Given the description of an element on the screen output the (x, y) to click on. 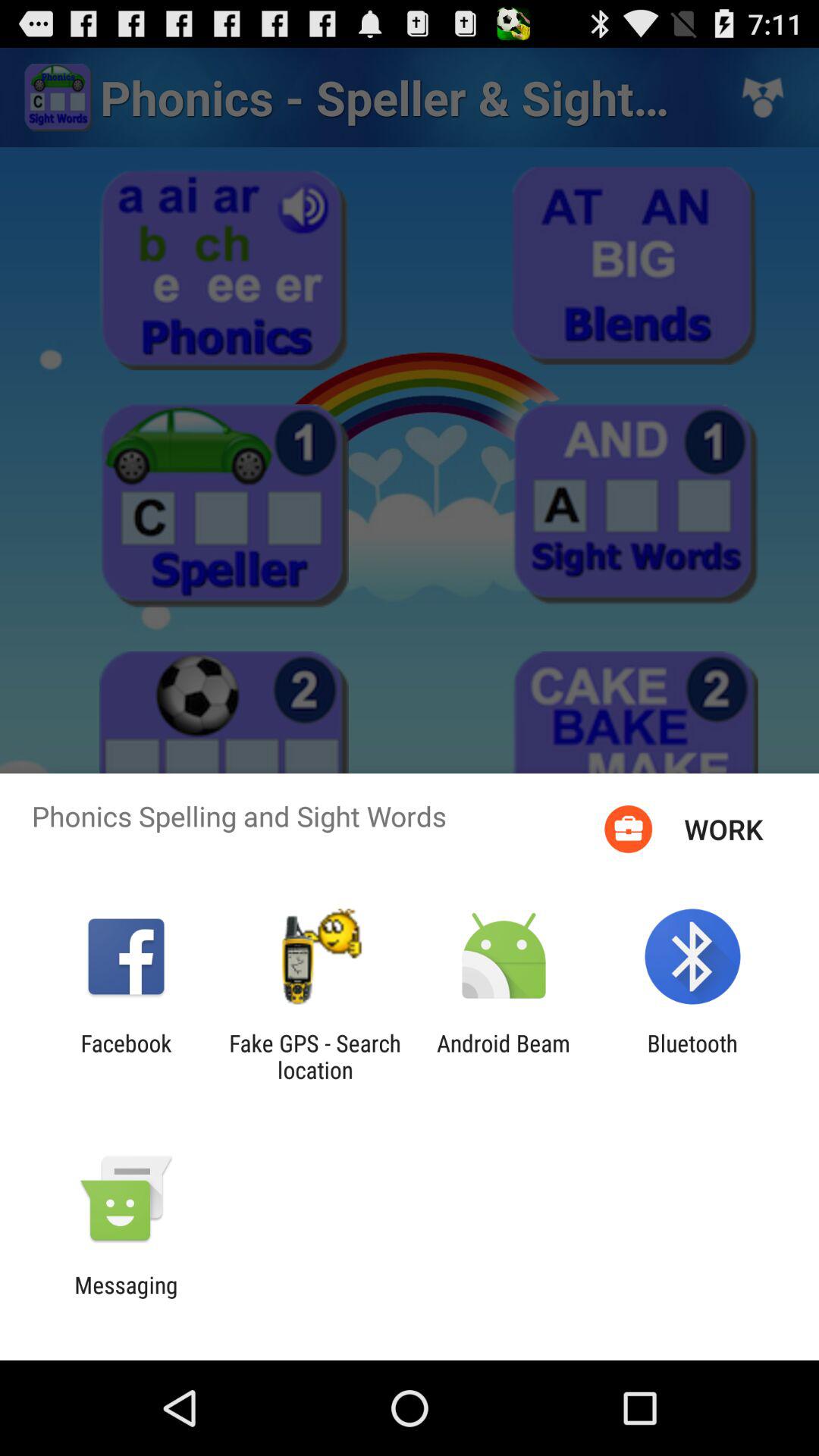
press the bluetooth item (692, 1056)
